Given the description of an element on the screen output the (x, y) to click on. 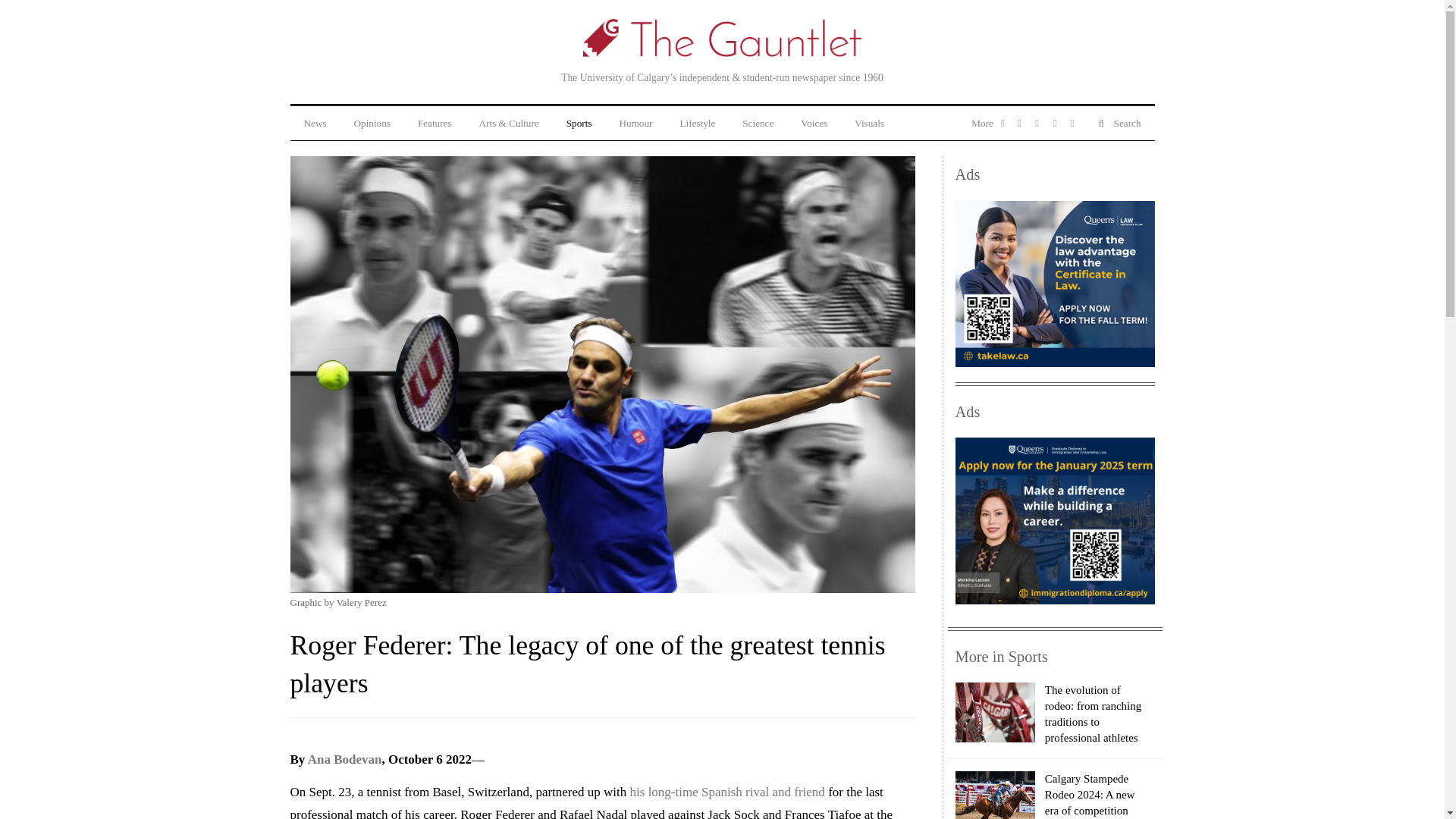
Opinions (372, 122)
Ana Bodevan (344, 759)
Visuals (869, 122)
Lifestyle (696, 122)
News (314, 122)
Science (757, 122)
More (983, 122)
Sports (579, 122)
Voices (814, 122)
Features (435, 122)
his long-time Spanish rival and friend (727, 791)
Humour (635, 122)
